Given the description of an element on the screen output the (x, y) to click on. 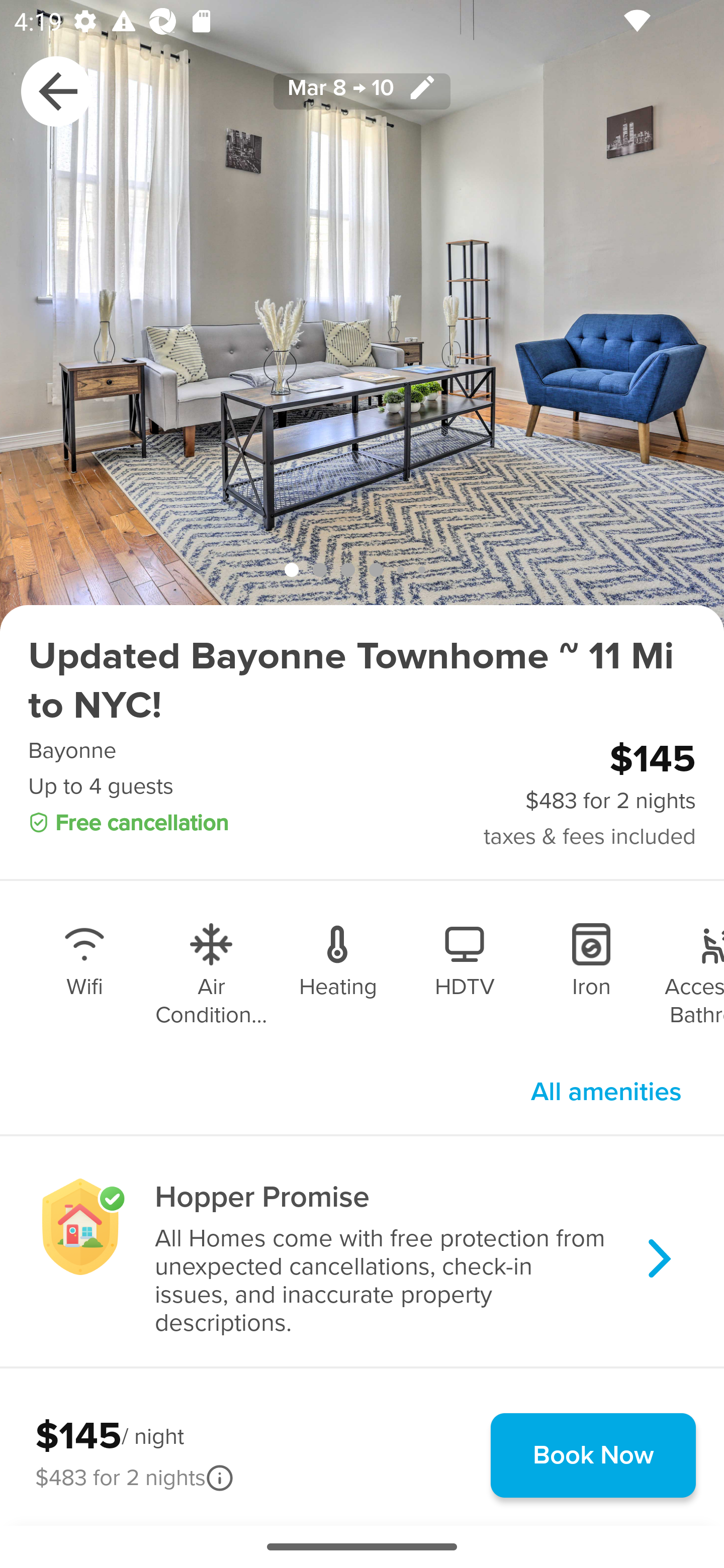
Mar 8 → 10 (361, 90)
Updated Bayonne Townhome ~ 11 Mi to NYC! (361, 681)
All amenities (606, 1091)
Book Now (592, 1454)
